Given the description of an element on the screen output the (x, y) to click on. 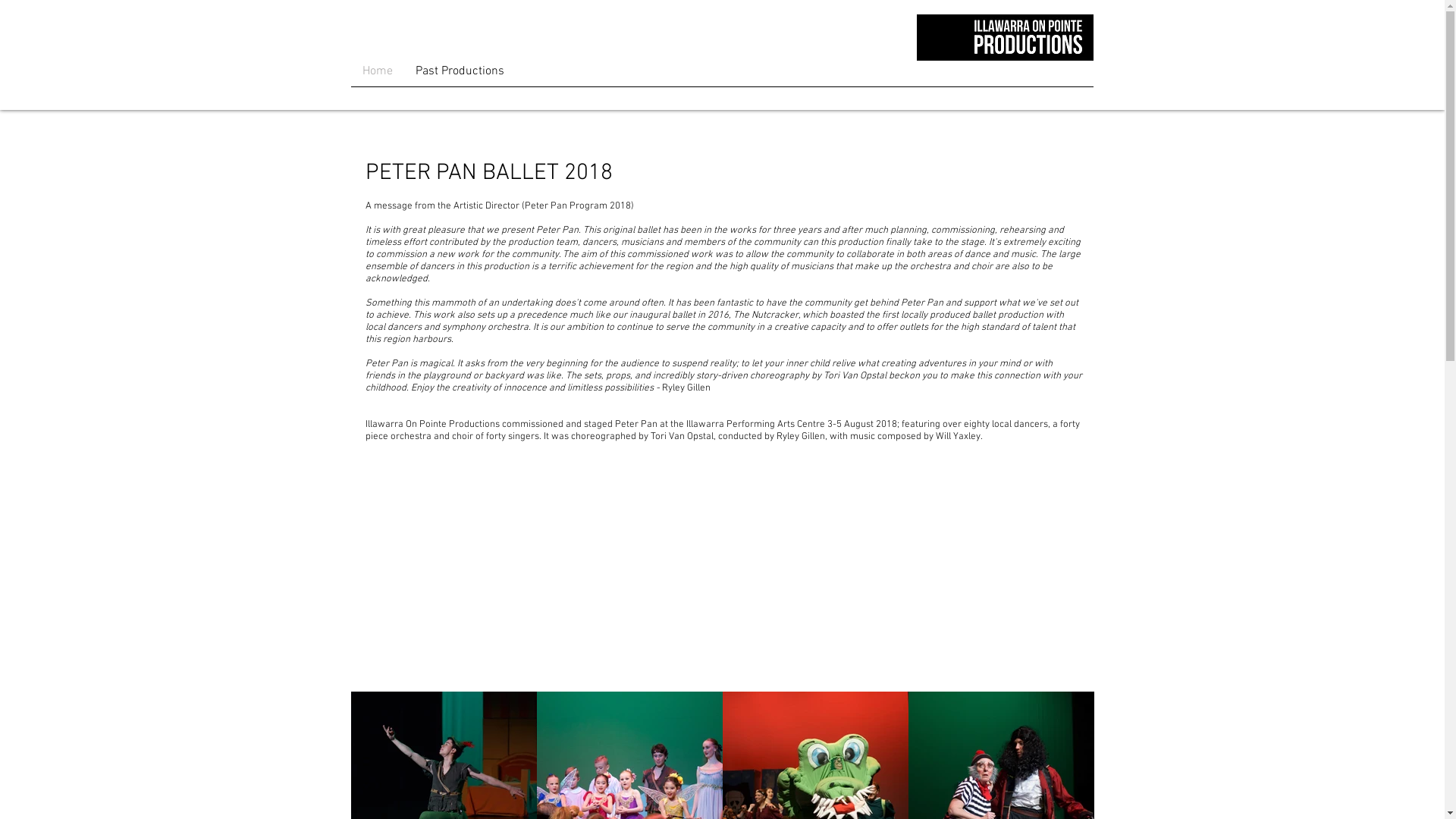
Home Element type: text (376, 70)
Past Productions Element type: text (458, 70)
